Given the description of an element on the screen output the (x, y) to click on. 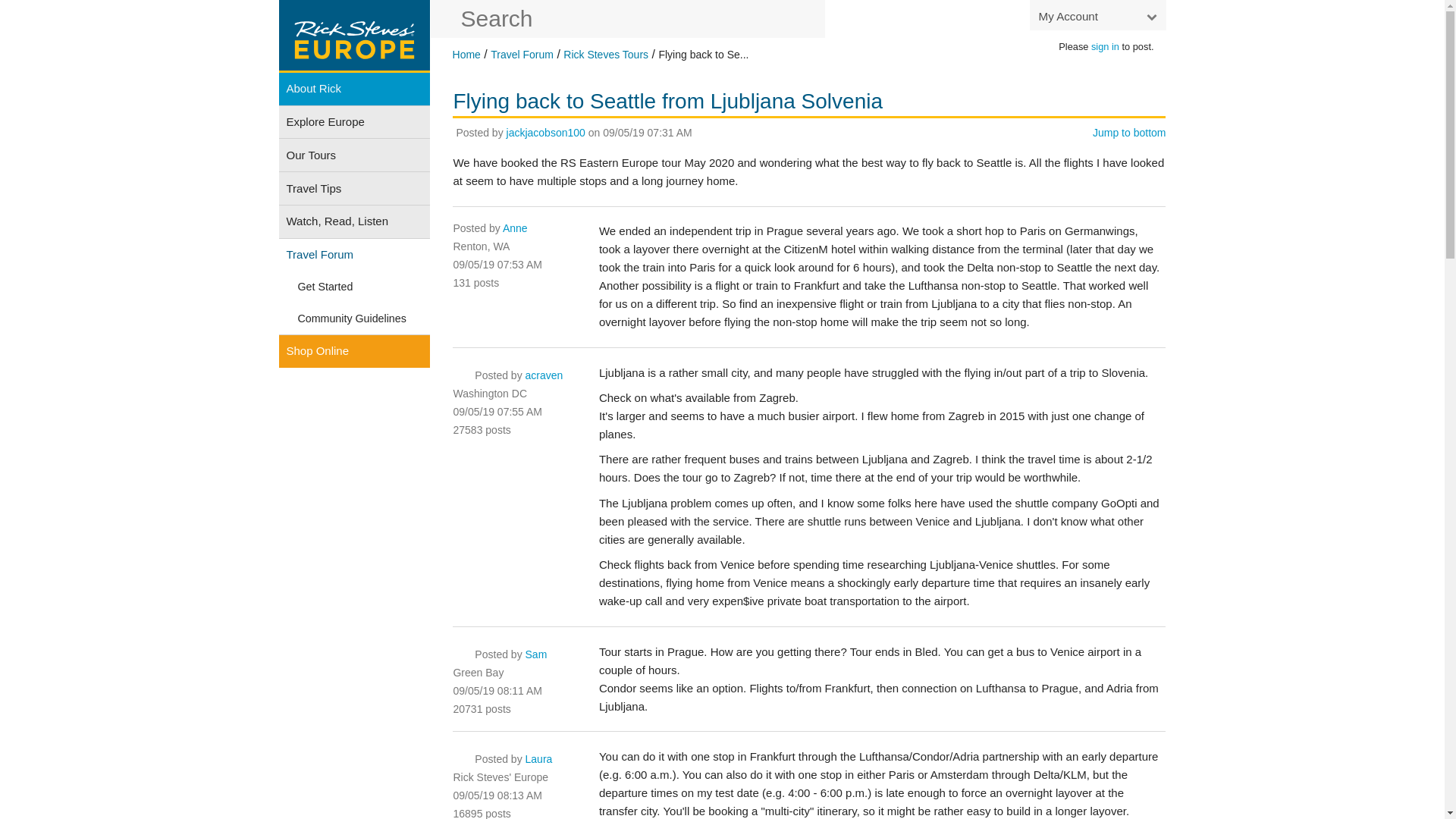
Anne (514, 227)
My Account (1097, 15)
Anne (514, 227)
acraven (544, 375)
Travel Forum (521, 54)
sign in (1104, 46)
Reply: 1614707 (496, 264)
Reply: 1614708 (496, 411)
Home (466, 54)
